Given the description of an element on the screen output the (x, y) to click on. 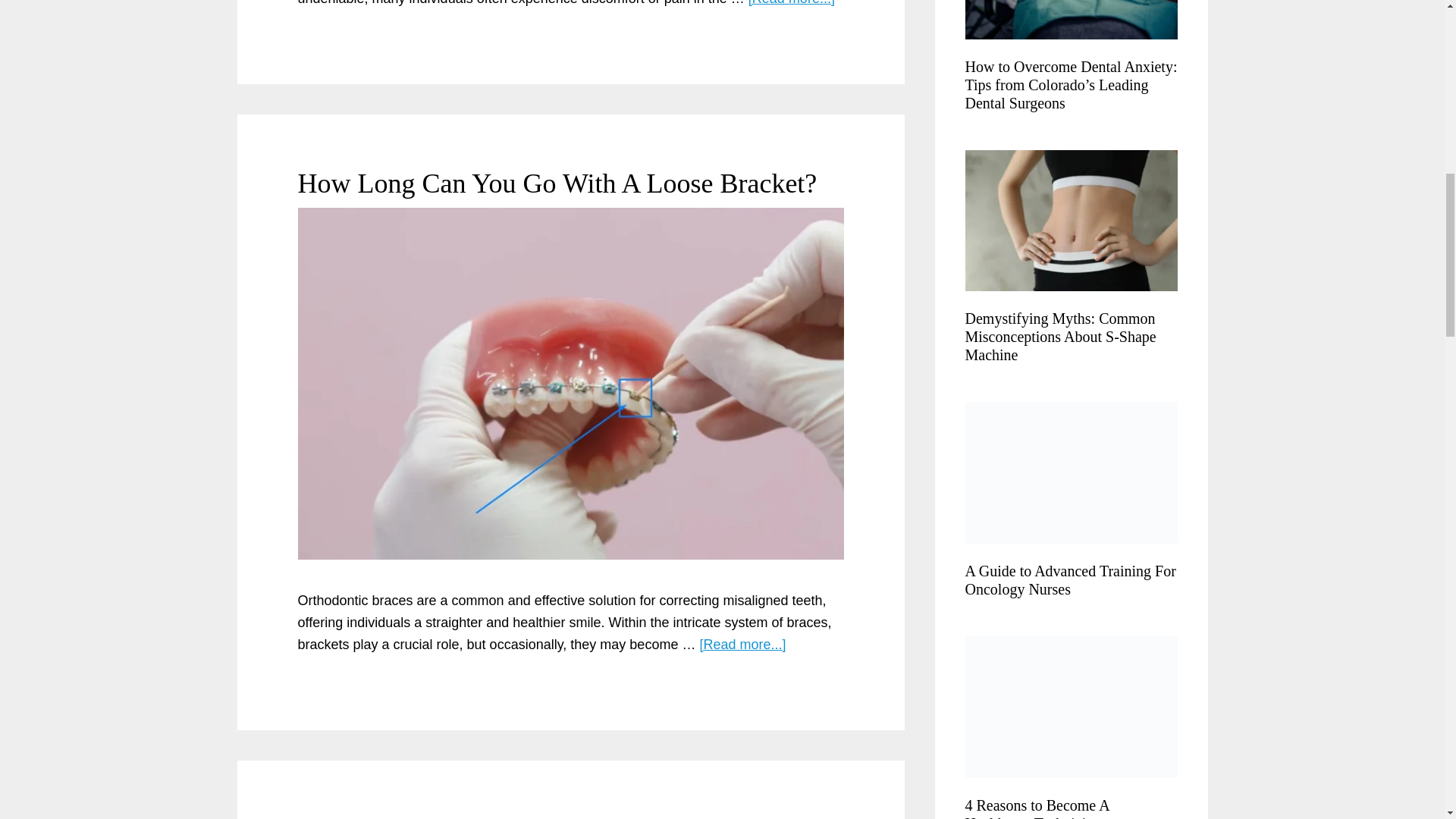
Can A Sinus Infection Cause Pink Eye? (513, 816)
How Long Can You Go With A Loose Bracket? (556, 183)
